Given the description of an element on the screen output the (x, y) to click on. 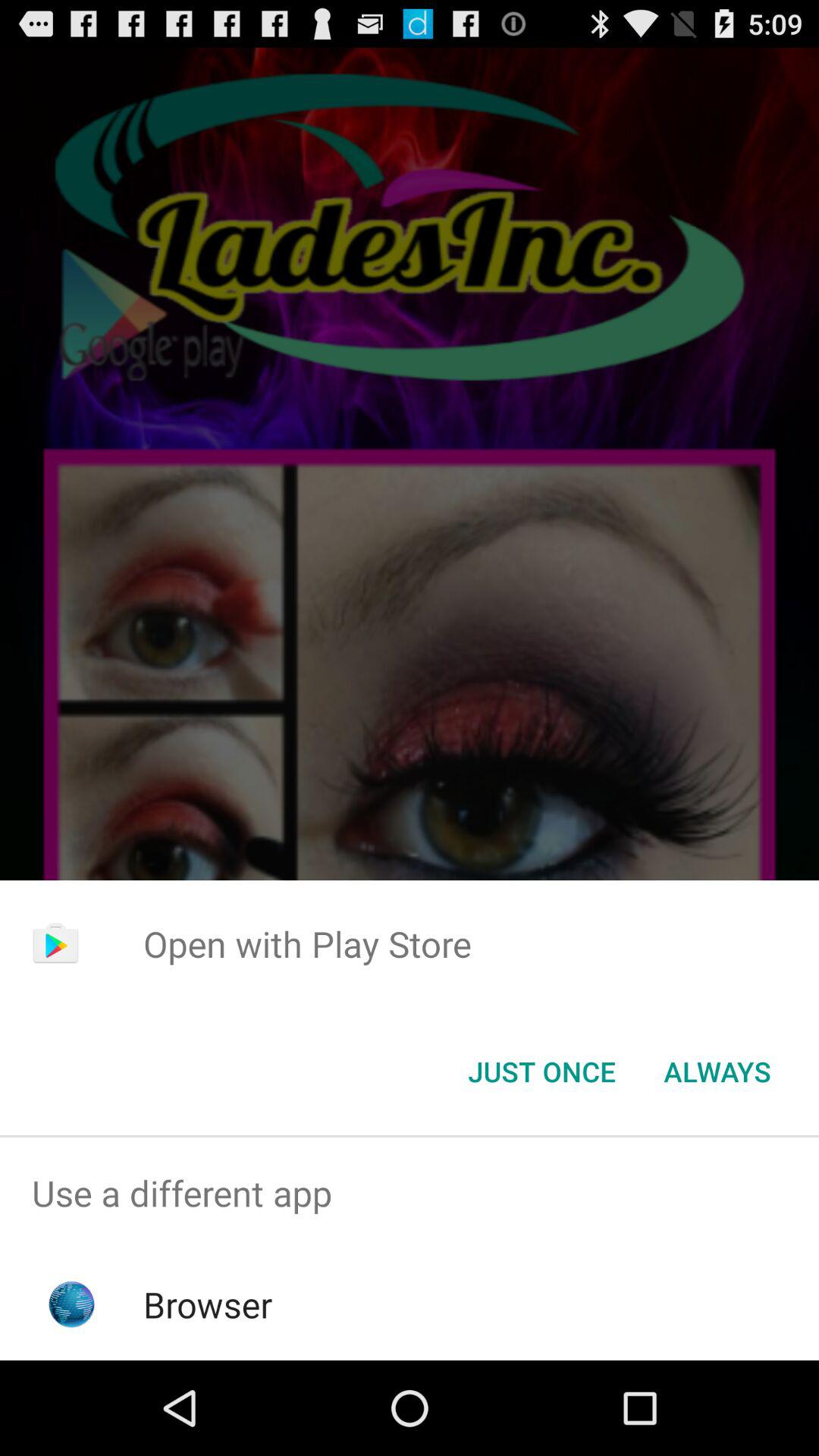
press icon above browser item (409, 1192)
